Given the description of an element on the screen output the (x, y) to click on. 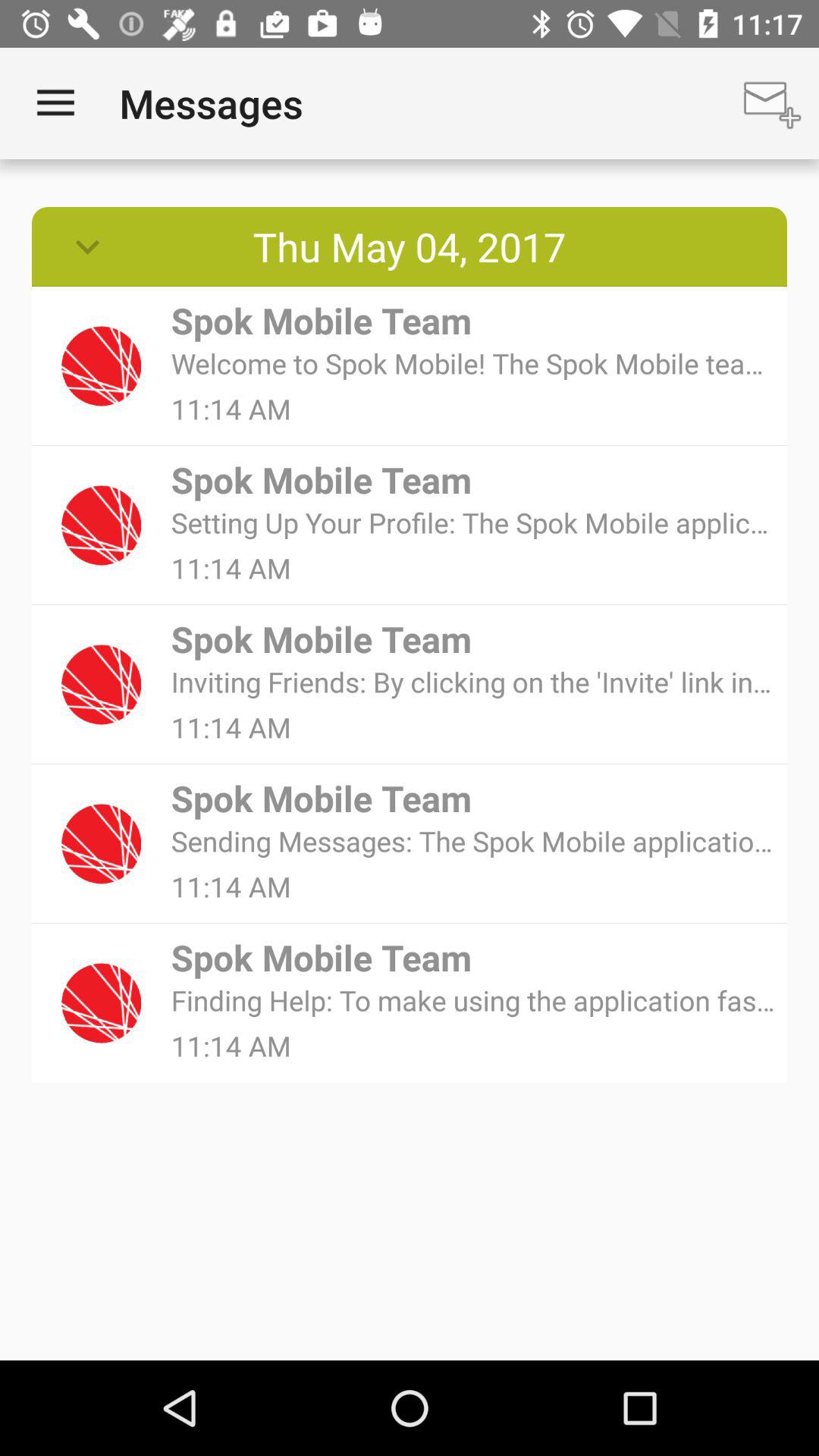
open sending messages the item (473, 840)
